Given the description of an element on the screen output the (x, y) to click on. 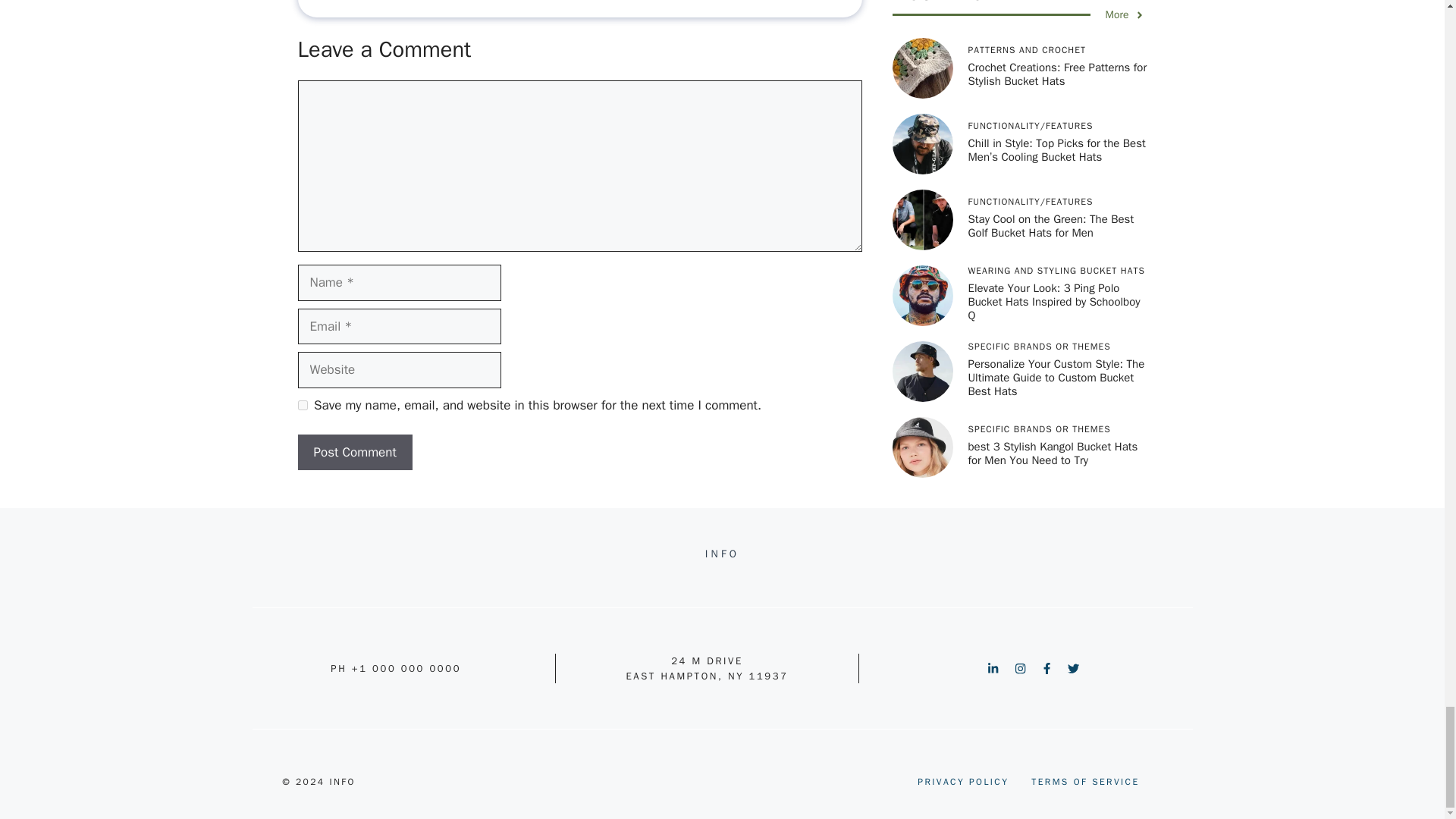
yes (302, 405)
Post Comment (354, 452)
Post Comment (354, 452)
